Given the description of an element on the screen output the (x, y) to click on. 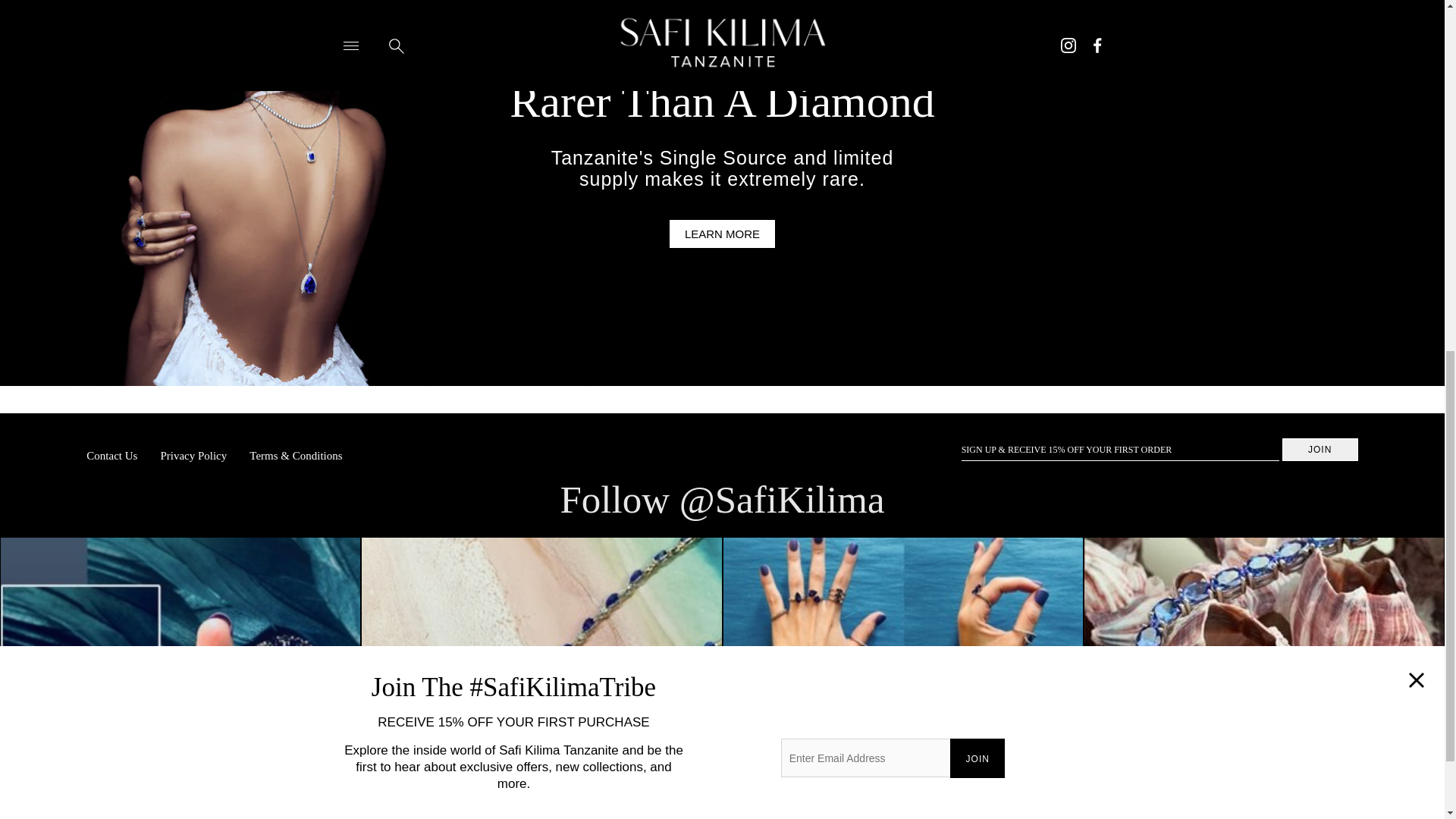
Privacy Policy (193, 450)
JOIN (977, 79)
LEARN MORE (721, 234)
JOIN (1320, 449)
Contact Us (116, 450)
JOIN (1320, 449)
